Given the description of an element on the screen output the (x, y) to click on. 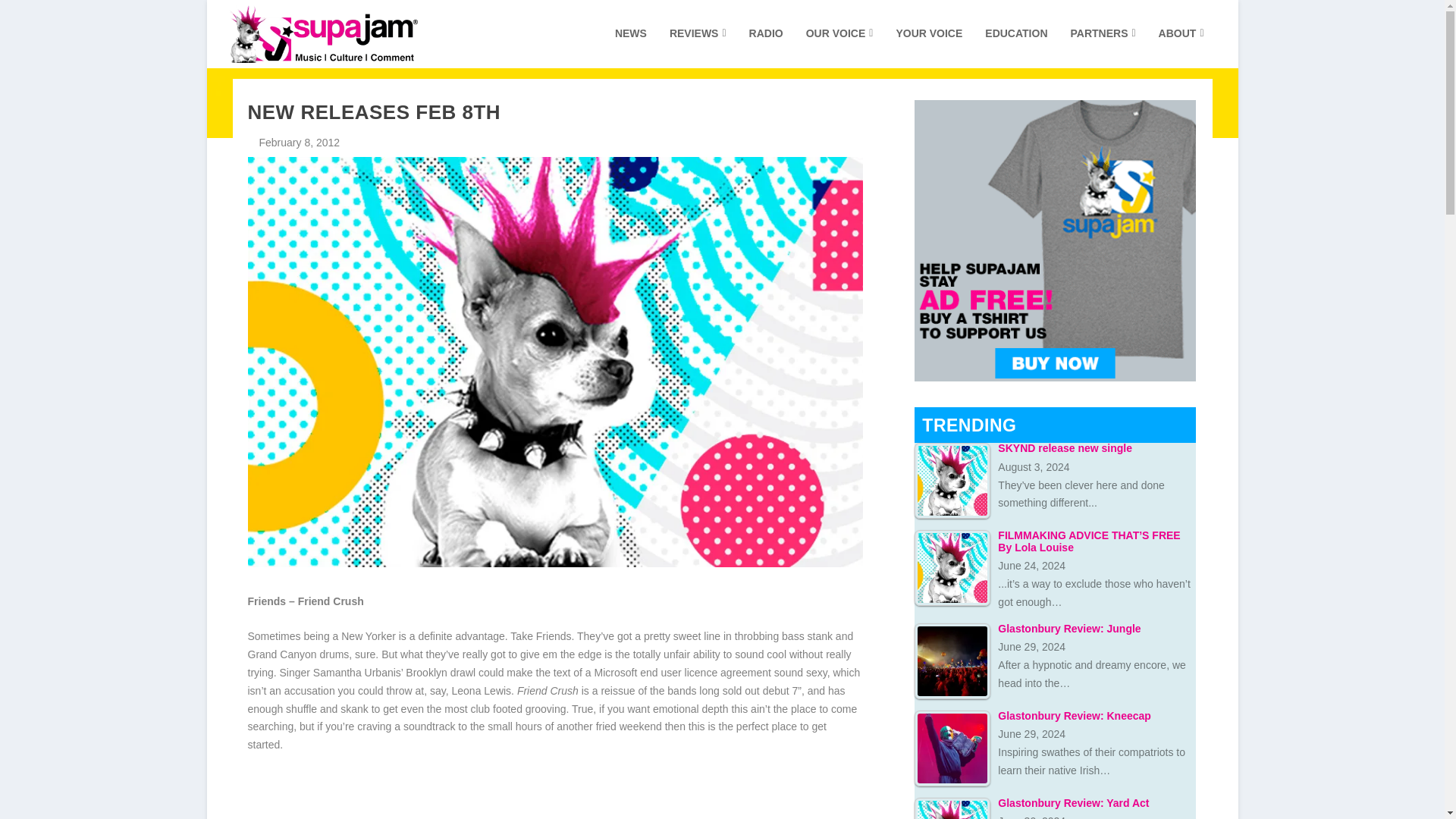
SKYND release new single (952, 480)
Glastonbury Review: Yard Act (952, 808)
Glastonbury Review: Kneecap (952, 748)
EDUCATION (1015, 47)
Glastonbury Review: Jungle (952, 661)
OUR VOICE (839, 47)
REVIEWS (697, 47)
YOUR VOICE (928, 47)
